Given the description of an element on the screen output the (x, y) to click on. 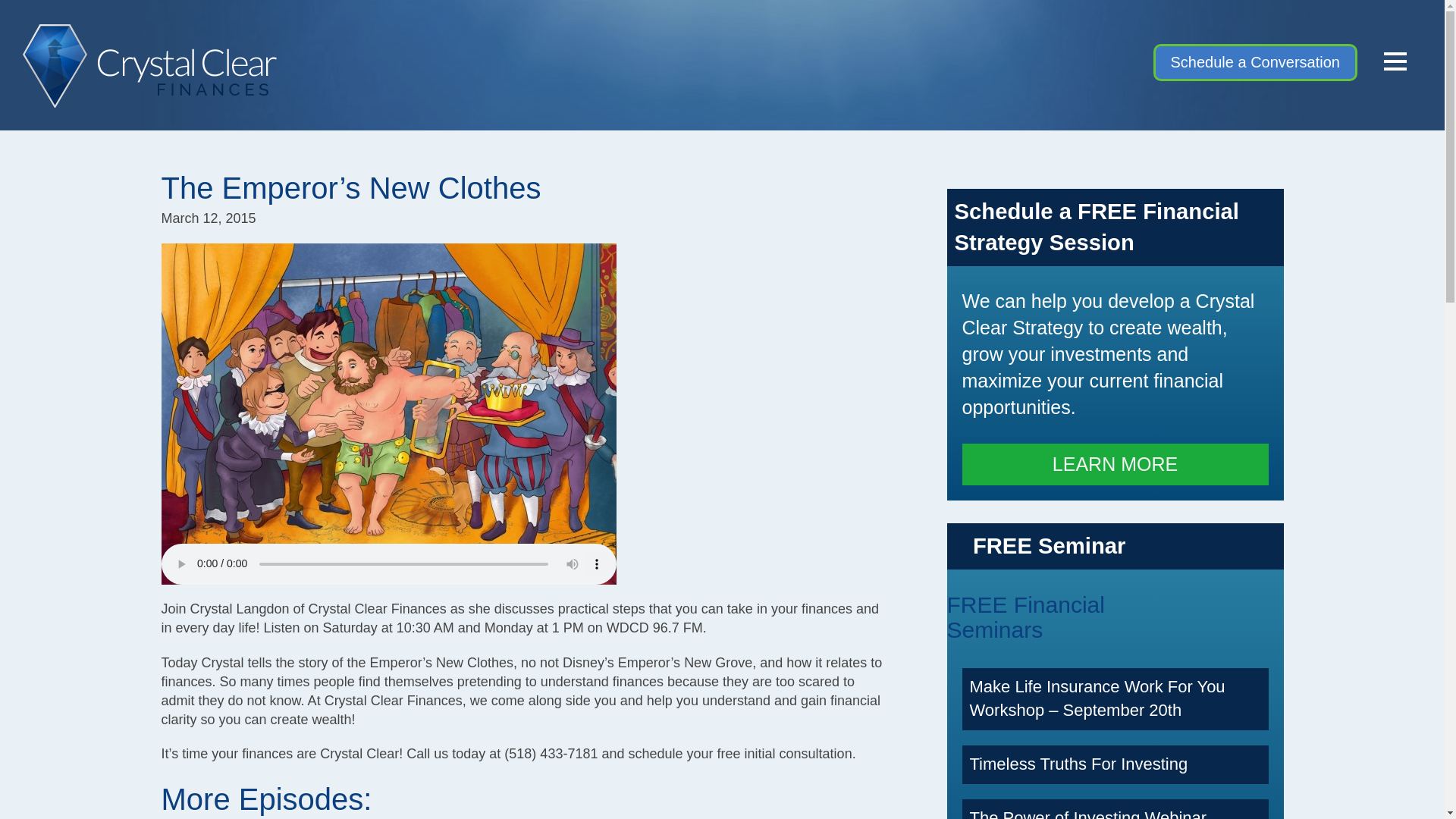
The Power of Investing Webinar (1088, 813)
The Power of Investing Webinar (1088, 813)
Timeless Truths For Investing (1078, 763)
Timeless Truths For Investing (1078, 763)
LEARN MORE (1114, 487)
Schedule a Conversation (1254, 62)
Schedule a Conversation (1254, 62)
